Given the description of an element on the screen output the (x, y) to click on. 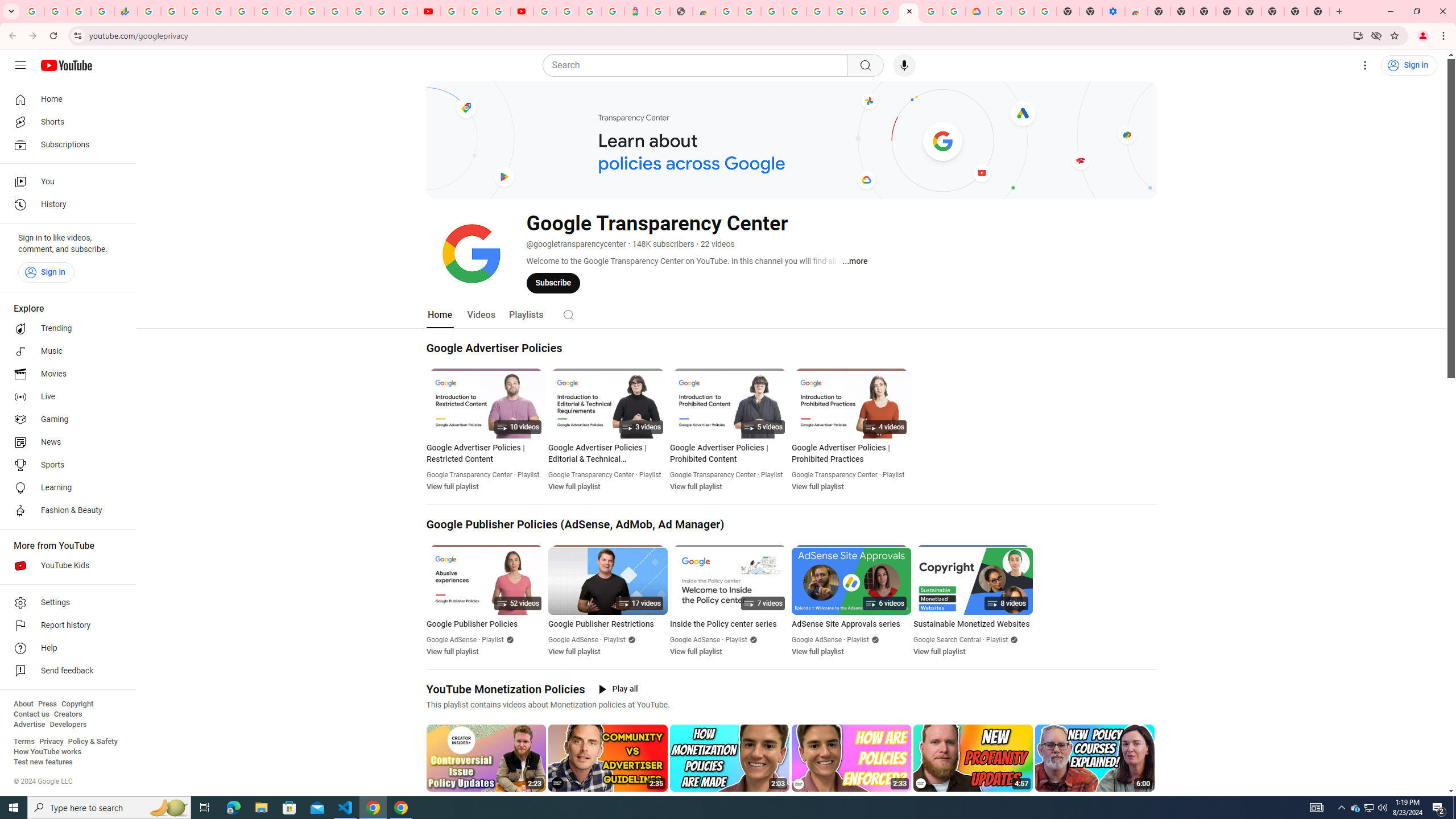
Music (64, 350)
News (64, 441)
Atour Hotel - Google hotels (635, 11)
Report history (64, 625)
Verified (1012, 639)
Chrome Web Store - Household (703, 11)
Press (46, 703)
